Given the description of an element on the screen output the (x, y) to click on. 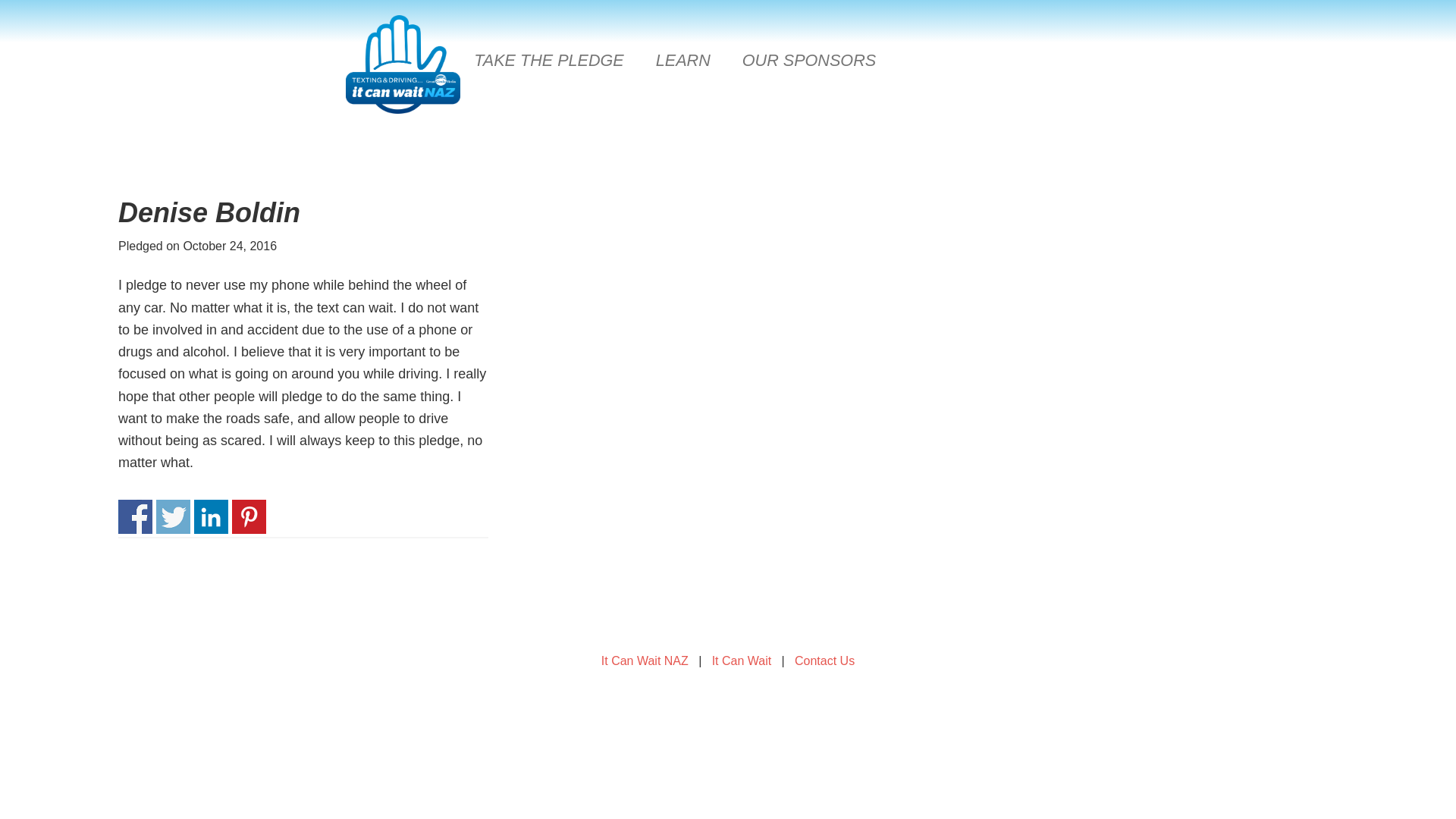
TAKE THE PLEDGE (548, 59)
Contact Us (824, 660)
Share on Facebook (134, 516)
Share on Pinterest (248, 516)
Share on Twitter (172, 516)
LEARN (682, 59)
OUR SPONSORS (809, 59)
Share on Linkedin (210, 516)
It Can Wait NAZ (644, 660)
It Can Wait (741, 660)
